Given the description of an element on the screen output the (x, y) to click on. 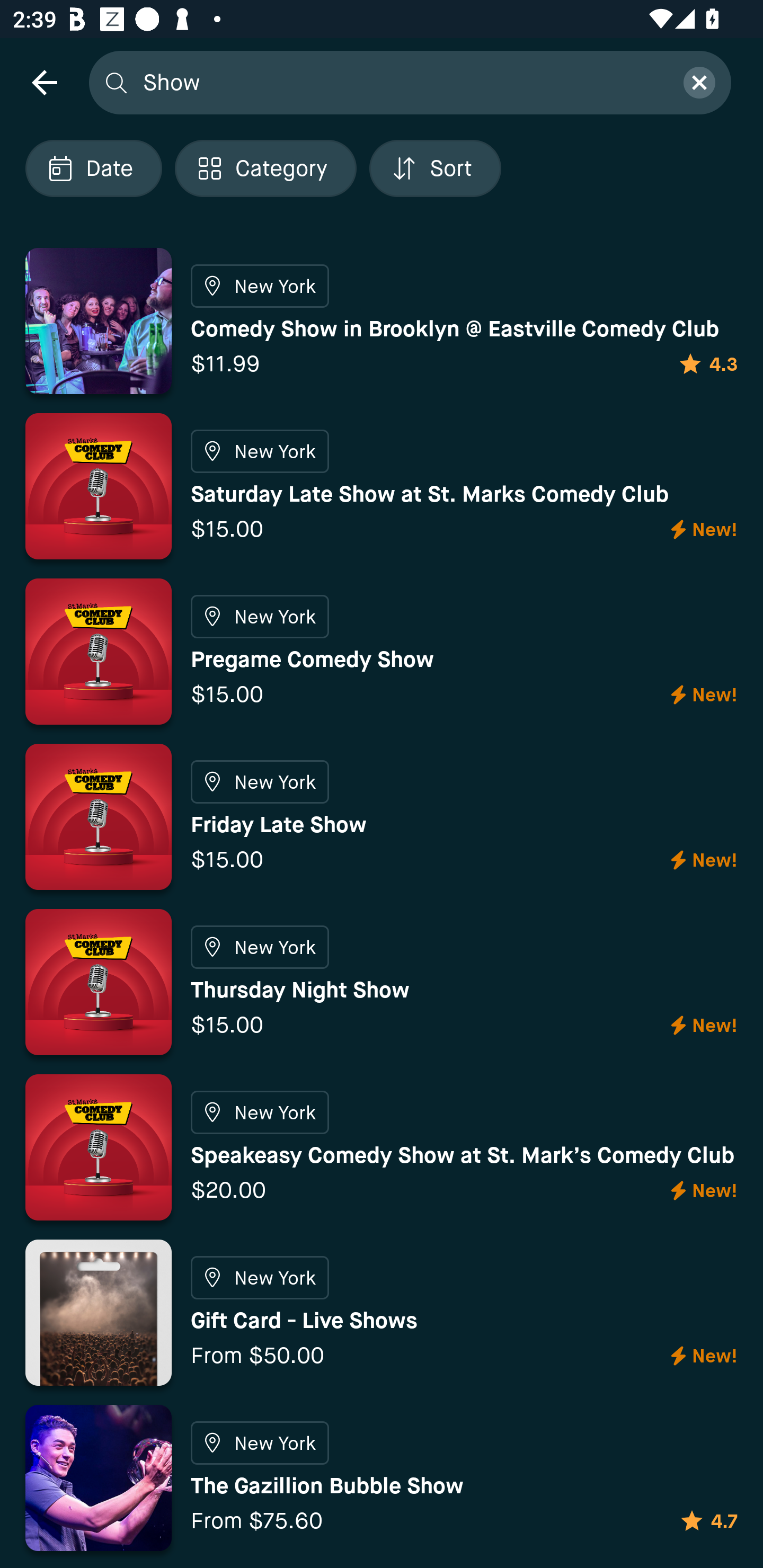
navigation icon (44, 81)
Show (402, 81)
Localized description Date (93, 168)
Localized description Category (265, 168)
Localized description Sort (435, 168)
